Given the description of an element on the screen output the (x, y) to click on. 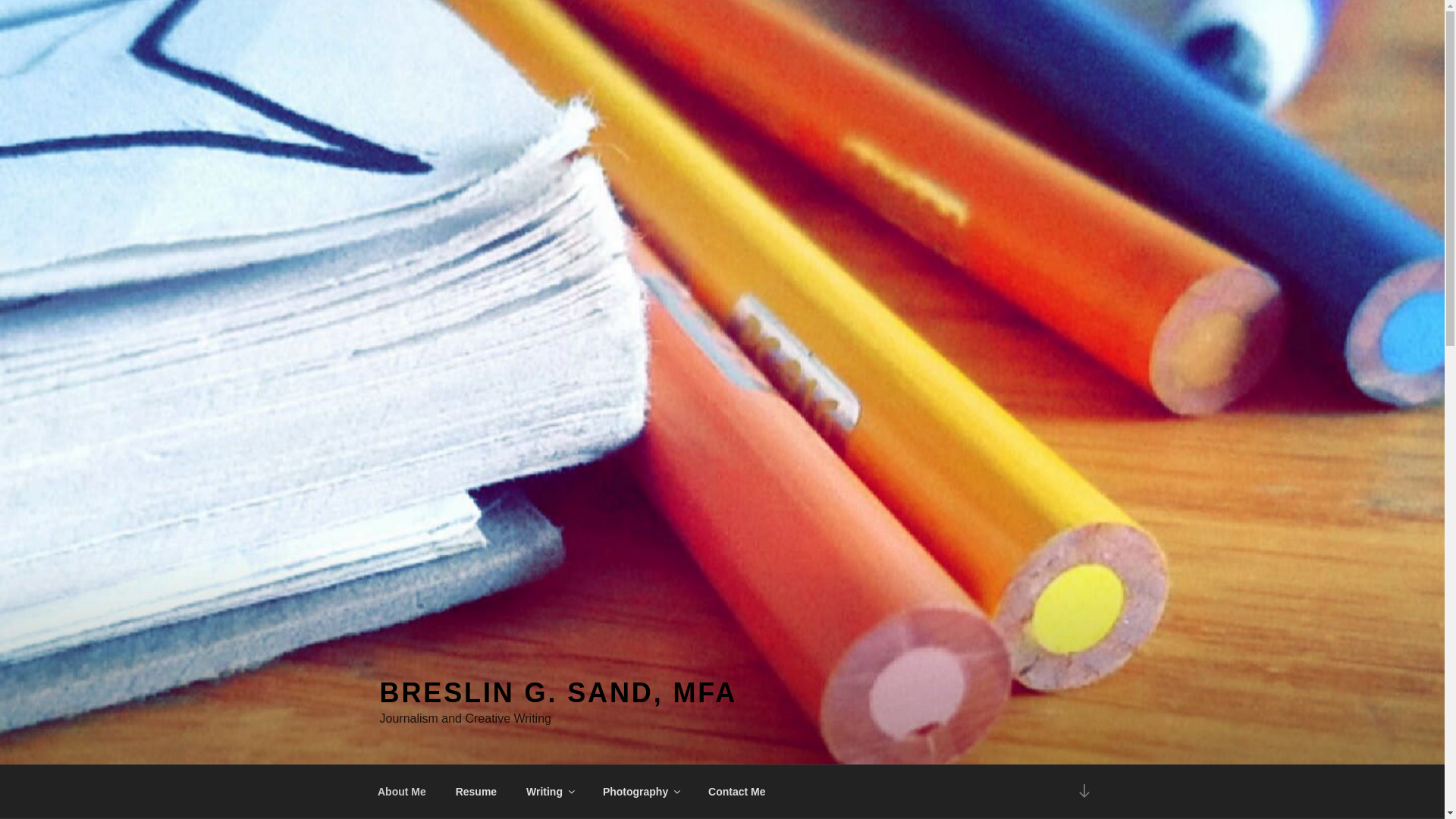
Resume (475, 791)
Photography (640, 791)
BRESLIN G. SAND, MFA (557, 692)
Contact Me (736, 791)
About Me (401, 791)
Writing (549, 791)
Scroll down to content (1082, 791)
Scroll down to content (1082, 791)
